Given the description of an element on the screen output the (x, y) to click on. 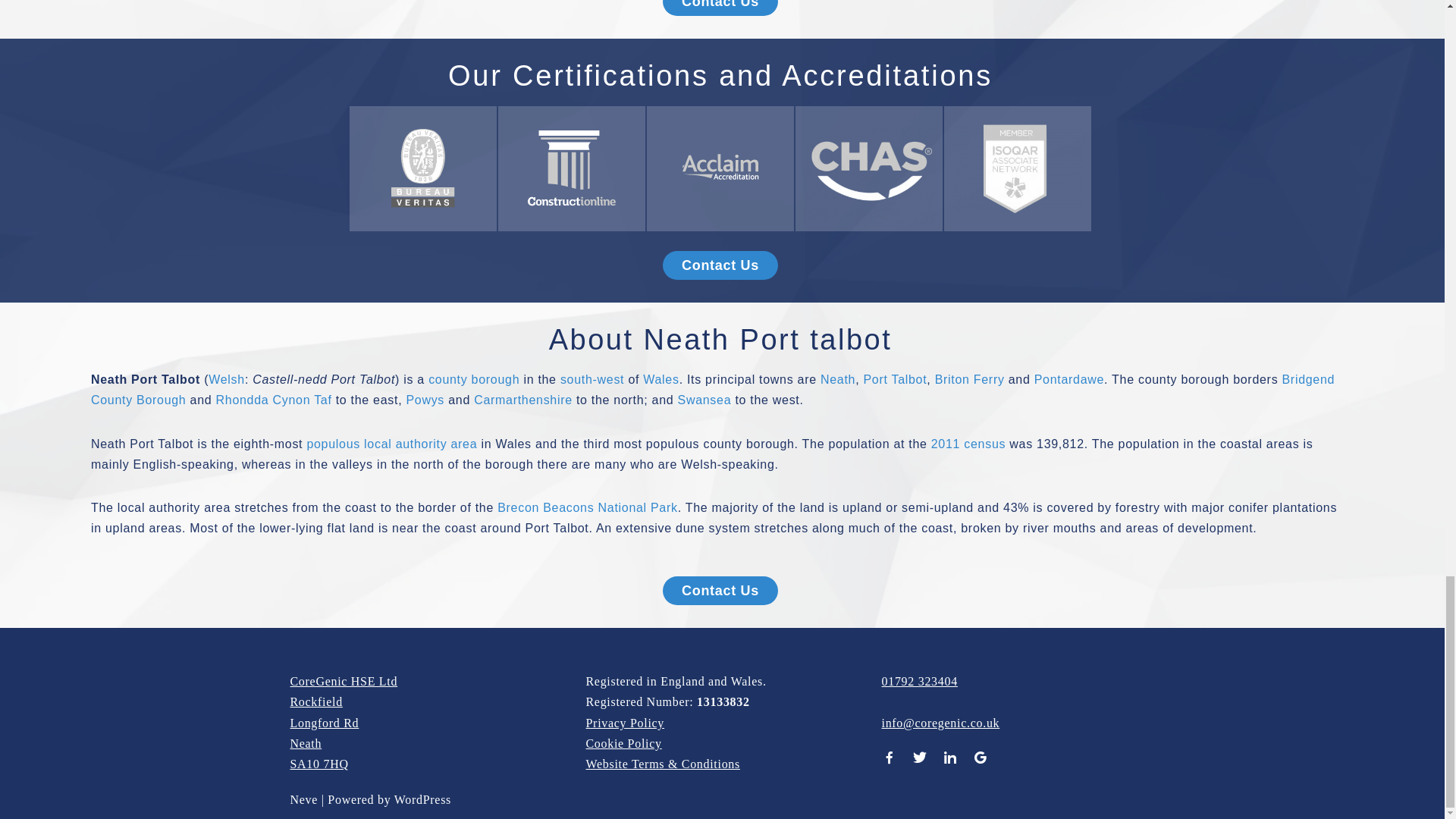
Powys (425, 399)
Carmarthenshire (523, 399)
Port Talbot (894, 379)
Local government in Wales (473, 379)
Rhondda Cynon Taf (273, 399)
Neath (838, 379)
Wales (660, 379)
Briton Ferry (969, 379)
Welsh language (226, 379)
Pontardawe (1068, 379)
